Given the description of an element on the screen output the (x, y) to click on. 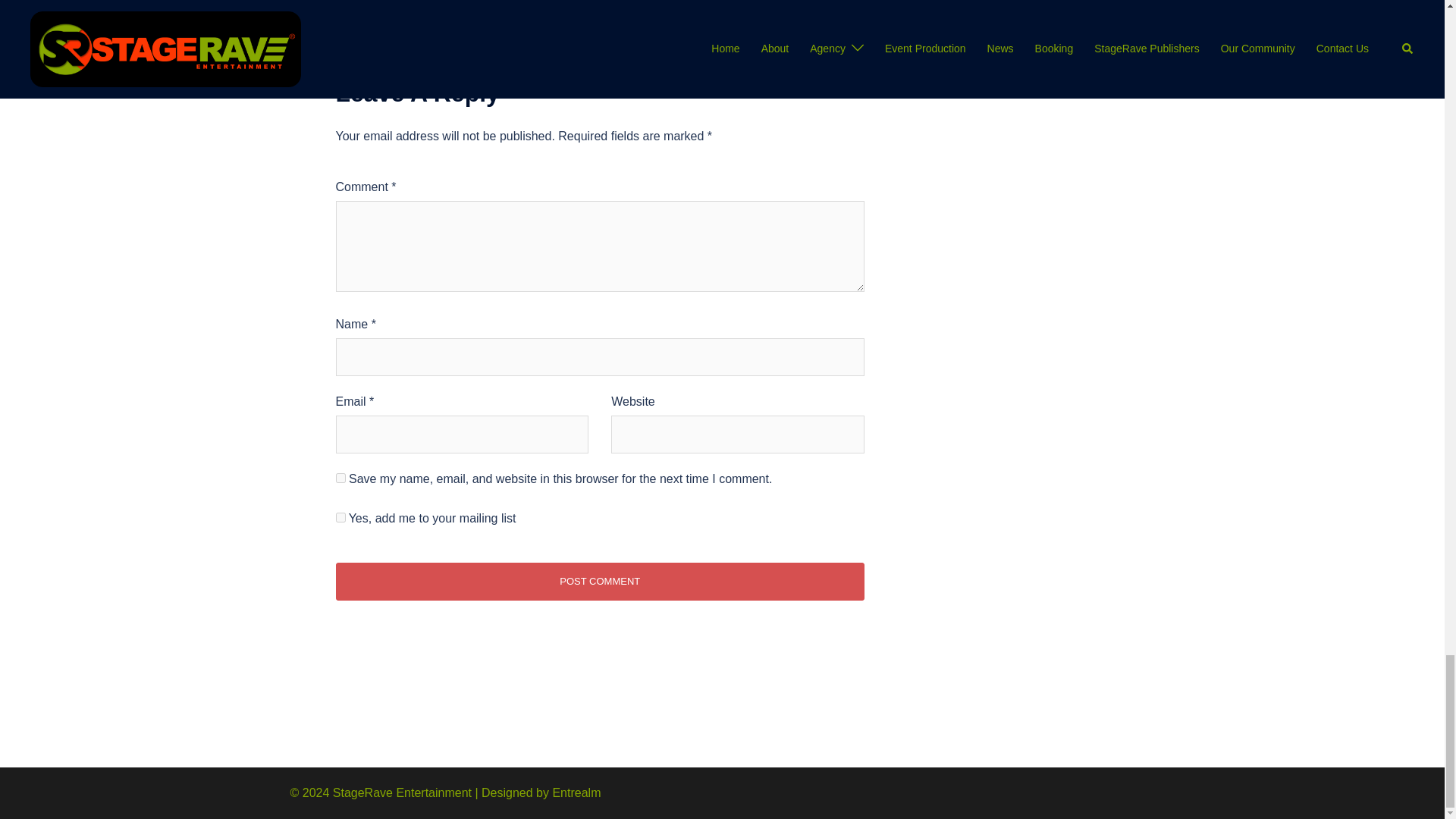
yes (339, 478)
1 (339, 517)
Post Comment (599, 581)
